Given the description of an element on the screen output the (x, y) to click on. 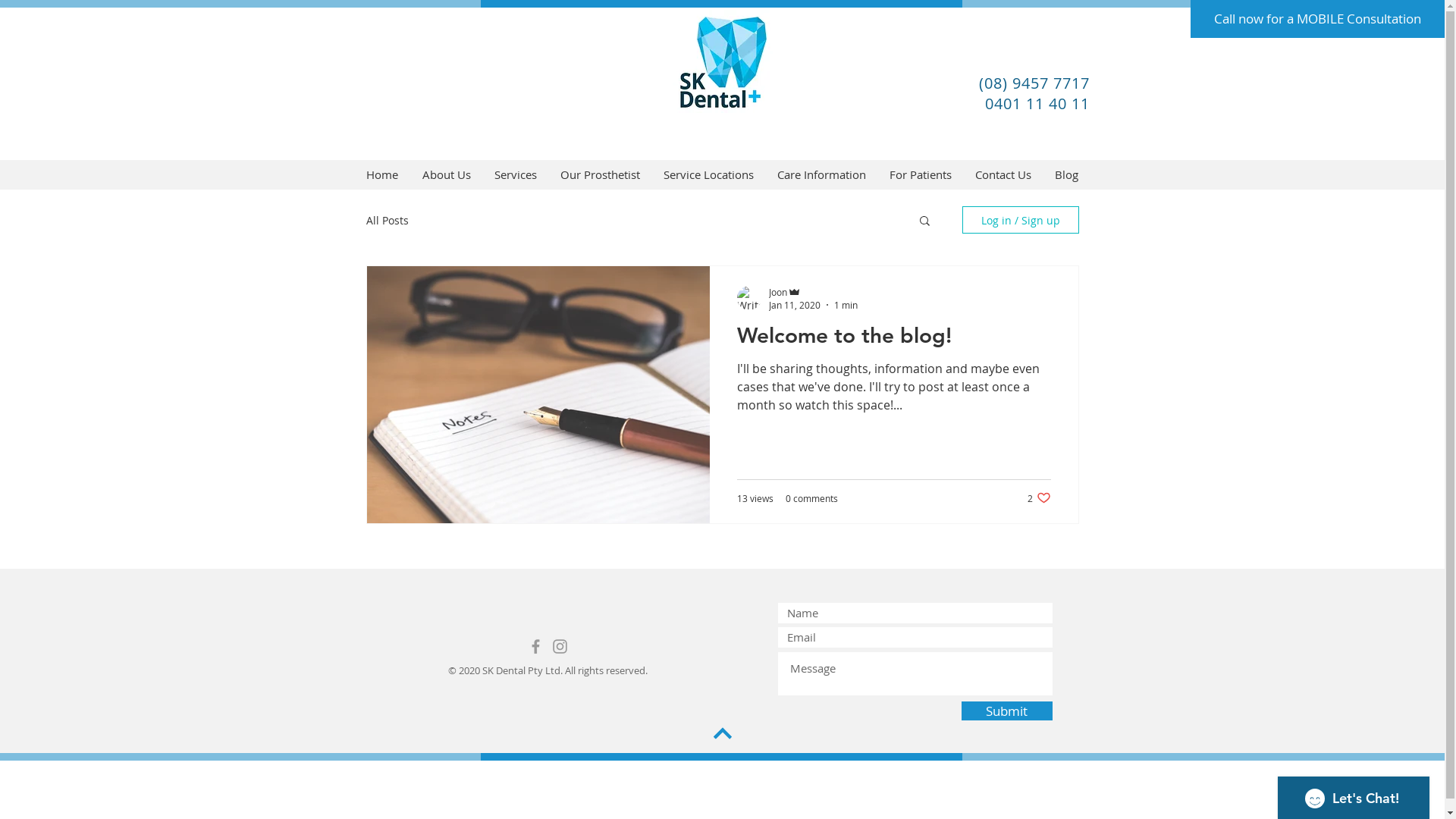
All Posts Element type: text (386, 219)
Service Locations Element type: text (708, 174)
Home Element type: text (381, 174)
0 comments Element type: text (811, 497)
Log in / Sign up Element type: text (1019, 219)
(08) 9457 7717 Element type: text (1033, 82)
Care Information Element type: text (821, 174)
Submit Element type: text (1006, 710)
Our Prosthetist Element type: text (600, 174)
Contact Us Element type: text (1002, 174)
2 likes. Post not marked as liked
2 Element type: text (1038, 497)
0401 11 40 11 Element type: text (1036, 103)
Welcome to the blog! Element type: text (894, 339)
Blog Element type: text (1066, 174)
Call now for a MOBILE Consultation Element type: text (1317, 18)
Services Element type: text (515, 174)
About Us Element type: text (445, 174)
For Patients Element type: text (920, 174)
